Given the description of an element on the screen output the (x, y) to click on. 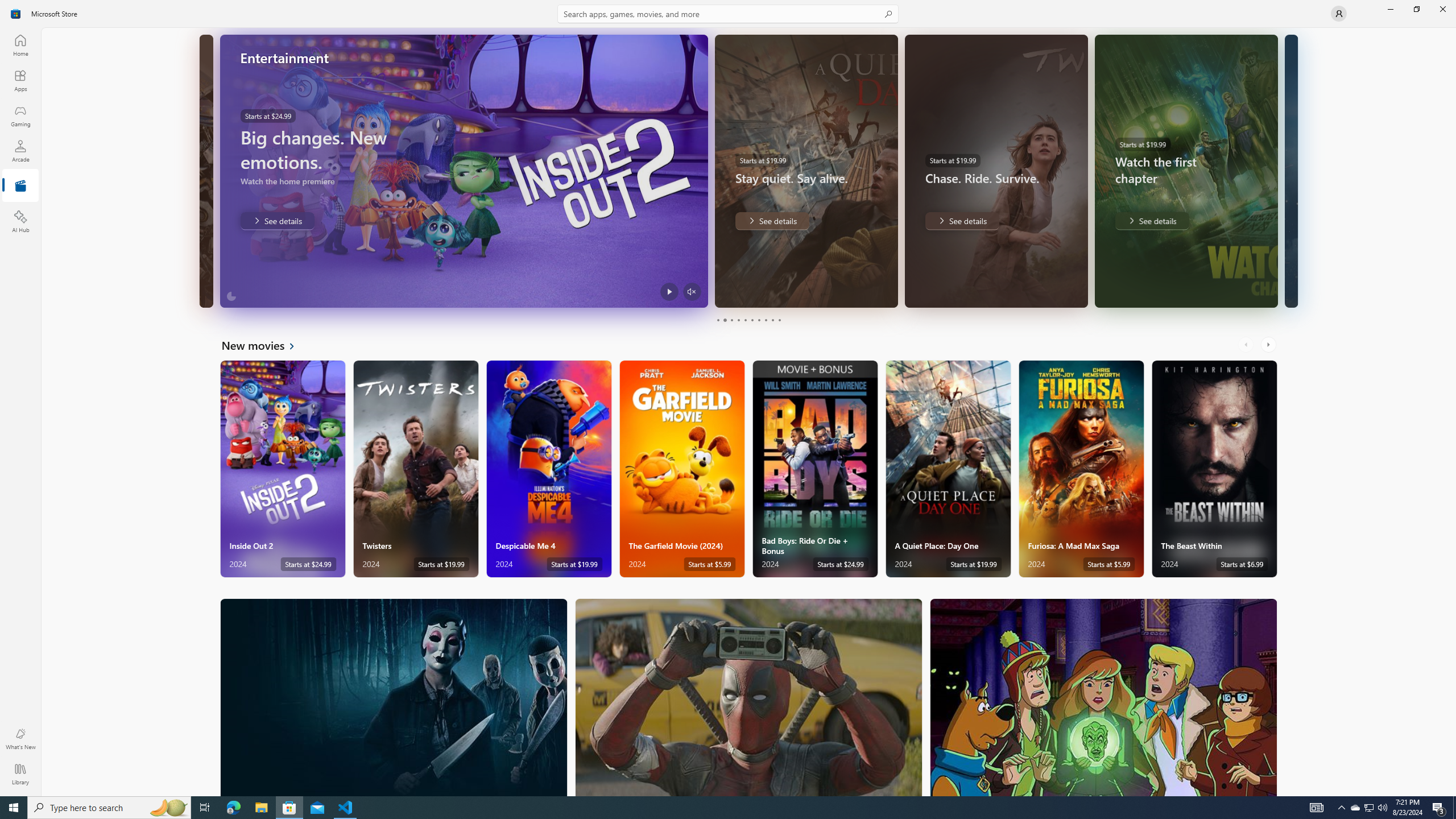
Page 5 (744, 319)
Pager (748, 319)
Page 10 (779, 319)
AutomationID: RightScrollButton (1269, 344)
Family (1102, 697)
AutomationID: NavigationControl (728, 398)
Play Trailer (668, 291)
Page 7 (758, 319)
